Given the description of an element on the screen output the (x, y) to click on. 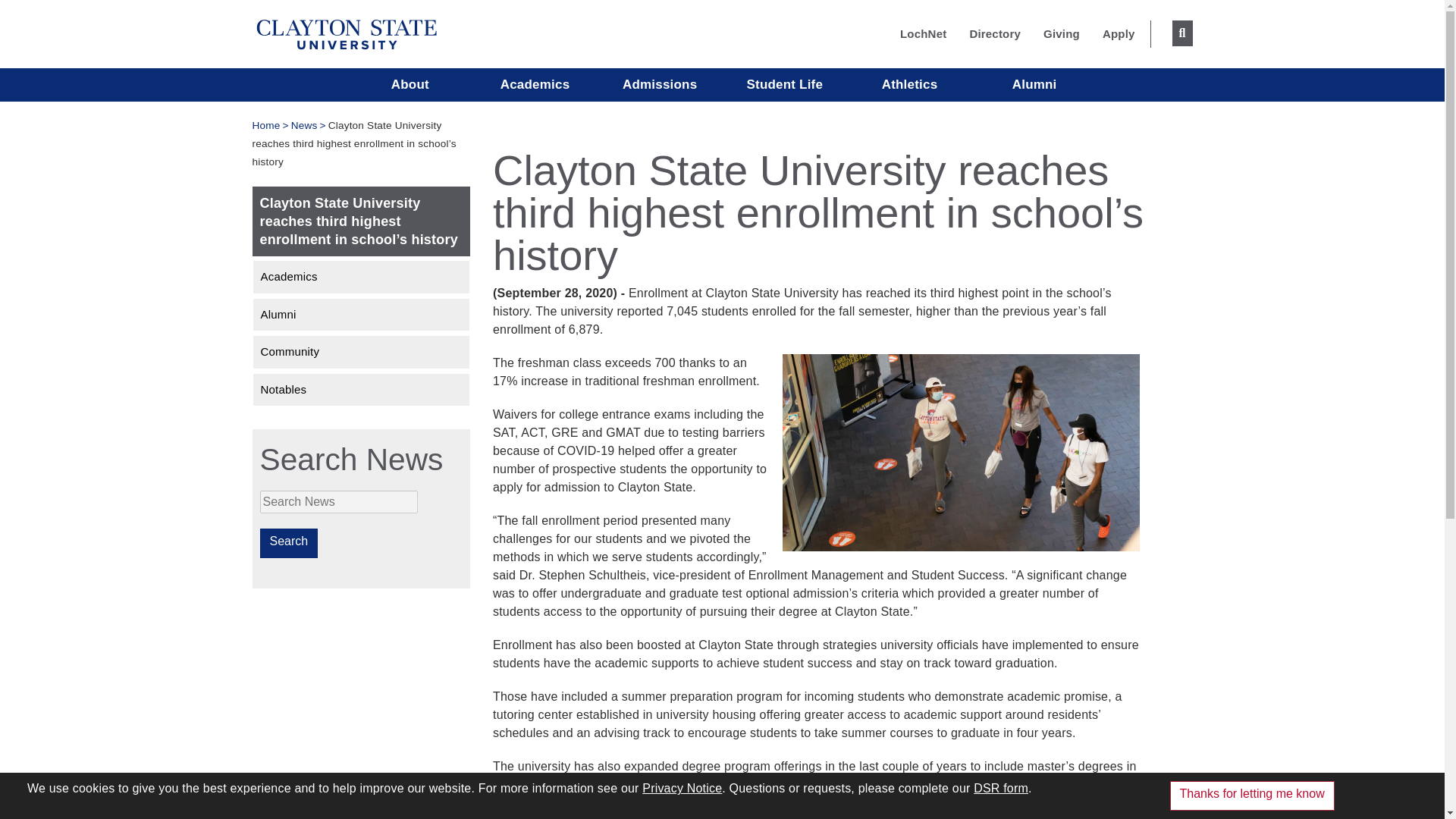
LochNet (923, 33)
Clayton State (346, 32)
Academics (534, 84)
Privacy Notice (682, 788)
Directory (995, 33)
Apply (1118, 33)
DSR form (1000, 788)
Admissions (659, 84)
Thanks for letting me know (1252, 795)
About (409, 84)
Giving (1061, 33)
